Given the description of an element on the screen output the (x, y) to click on. 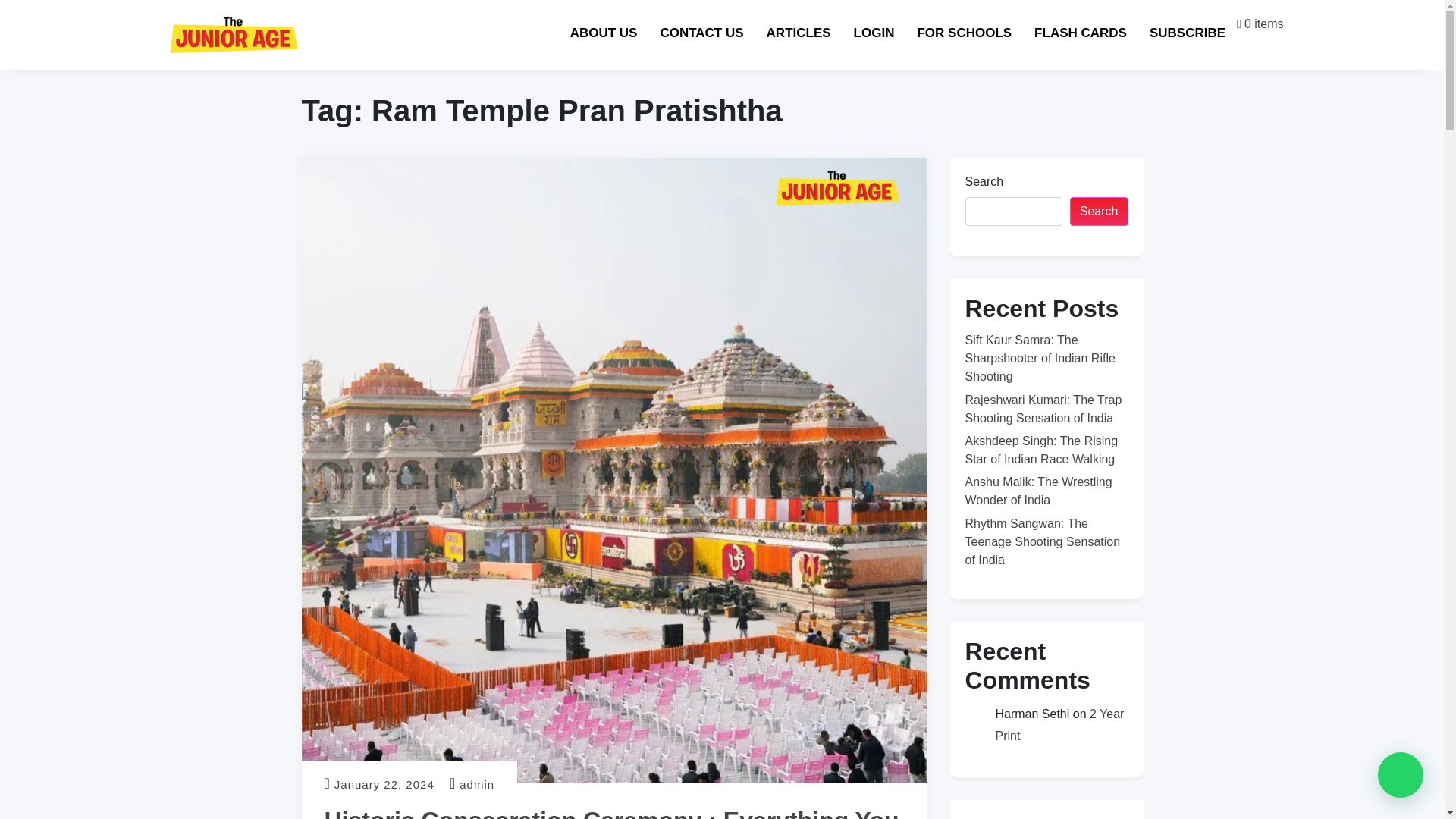
FLASH CARDS (1110, 30)
ARTICLES (799, 31)
LOGIN (882, 31)
SUBSCRIBE (1216, 31)
admin (477, 784)
January 22, 2024 (383, 784)
FOR SCHOOLS (982, 31)
ABOUT US (628, 36)
0 items (1265, 23)
CONTACT US (703, 33)
Start shopping (1259, 23)
